Given the description of an element on the screen output the (x, y) to click on. 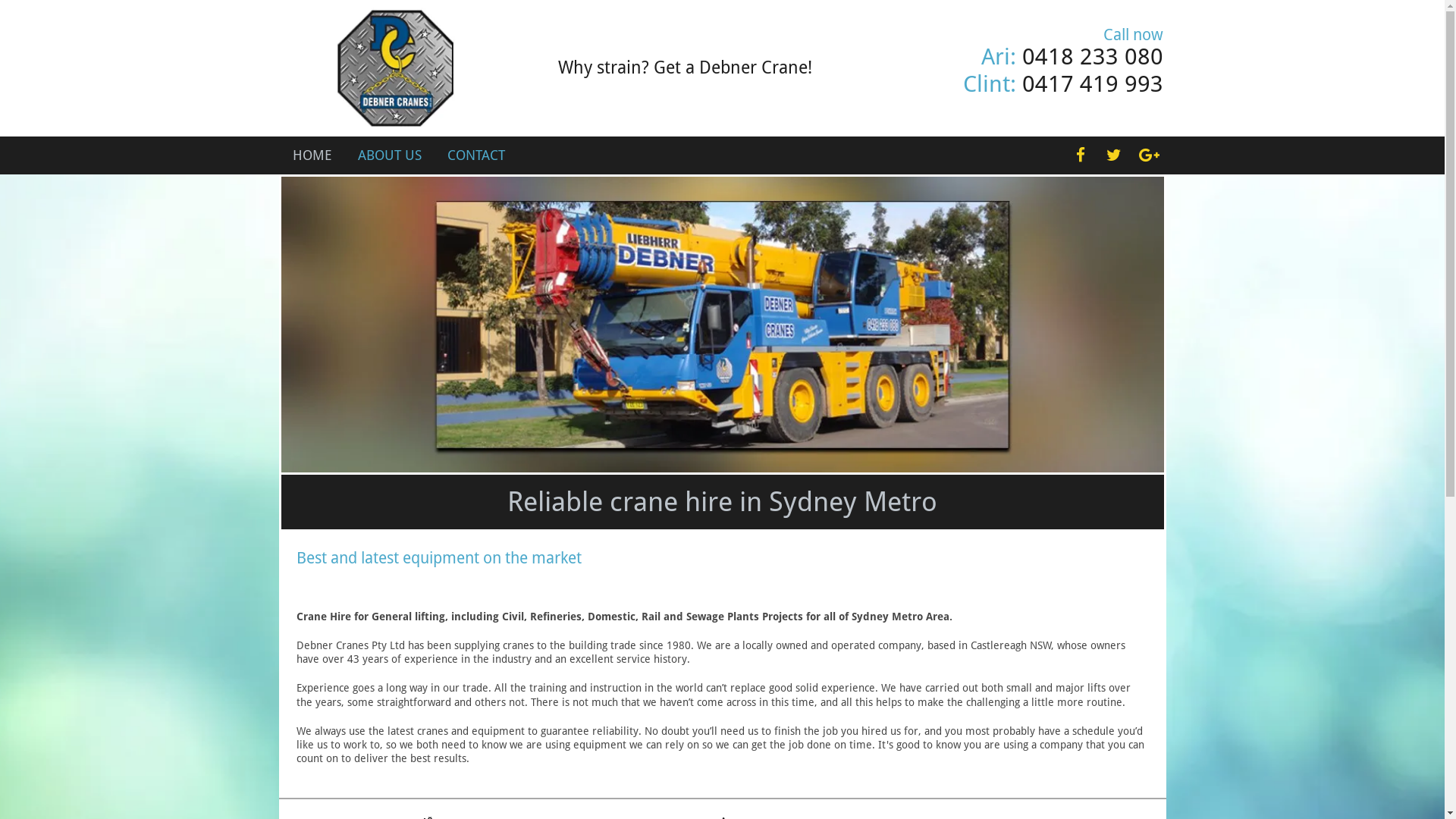
debner cranes pty ltd logo Element type: hover (389, 68)
ABOUT US Element type: text (389, 155)
CONTACT Element type: text (476, 155)
HOME Element type: text (312, 155)
0418 233 080 Element type: text (1092, 56)
0417 419 993 Element type: text (1092, 83)
